Given the description of an element on the screen output the (x, y) to click on. 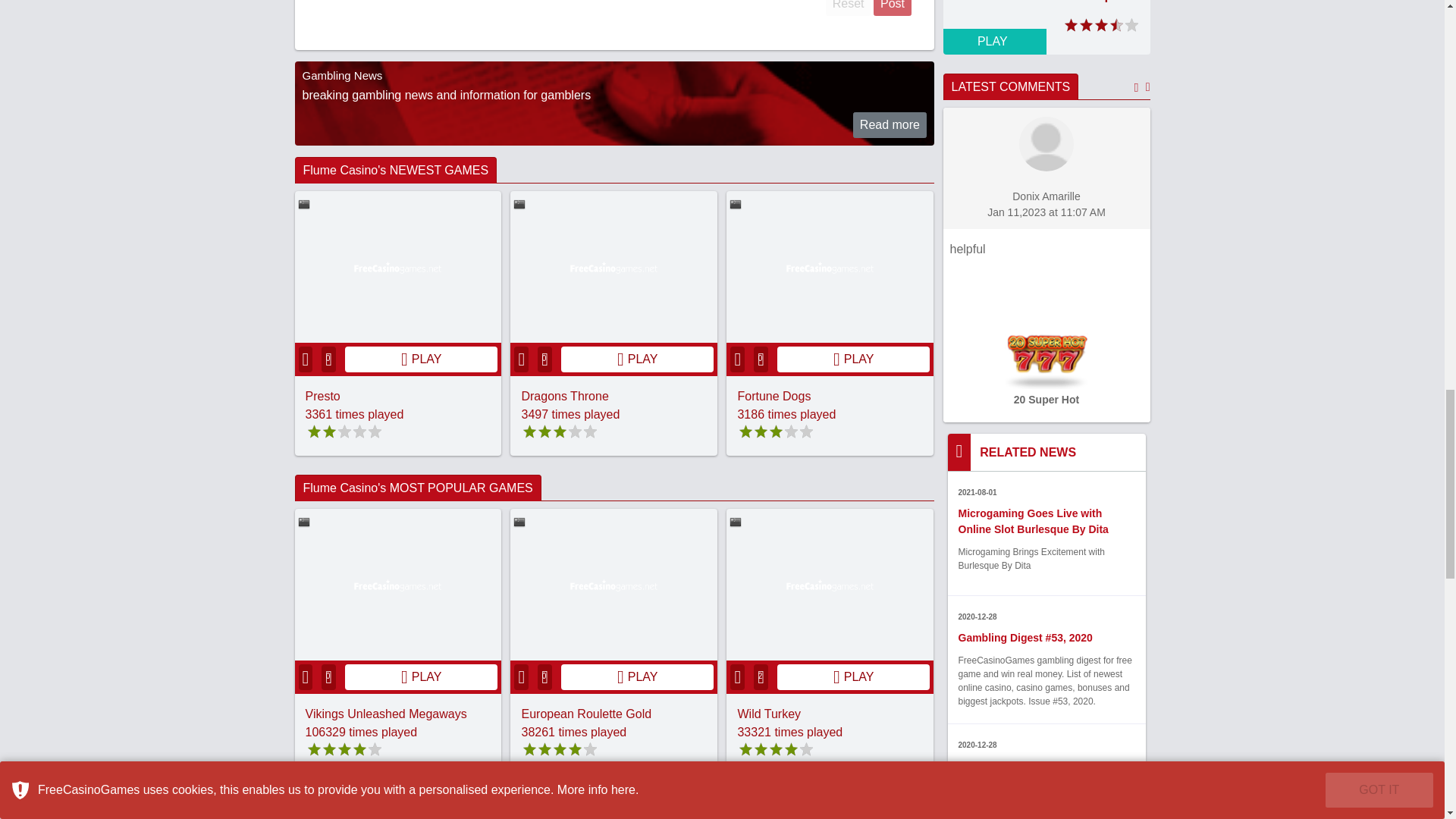
Play Dragons Throne (636, 359)
Review Dragons Throne (564, 395)
Review Presto (397, 266)
Review Dragons Throne (614, 266)
Review Presto (321, 395)
Play Fortune Dogs (853, 359)
Play Presto (421, 359)
Review Fortune Dogs (829, 266)
Review Fortune Dogs (773, 395)
